Given the description of an element on the screen output the (x, y) to click on. 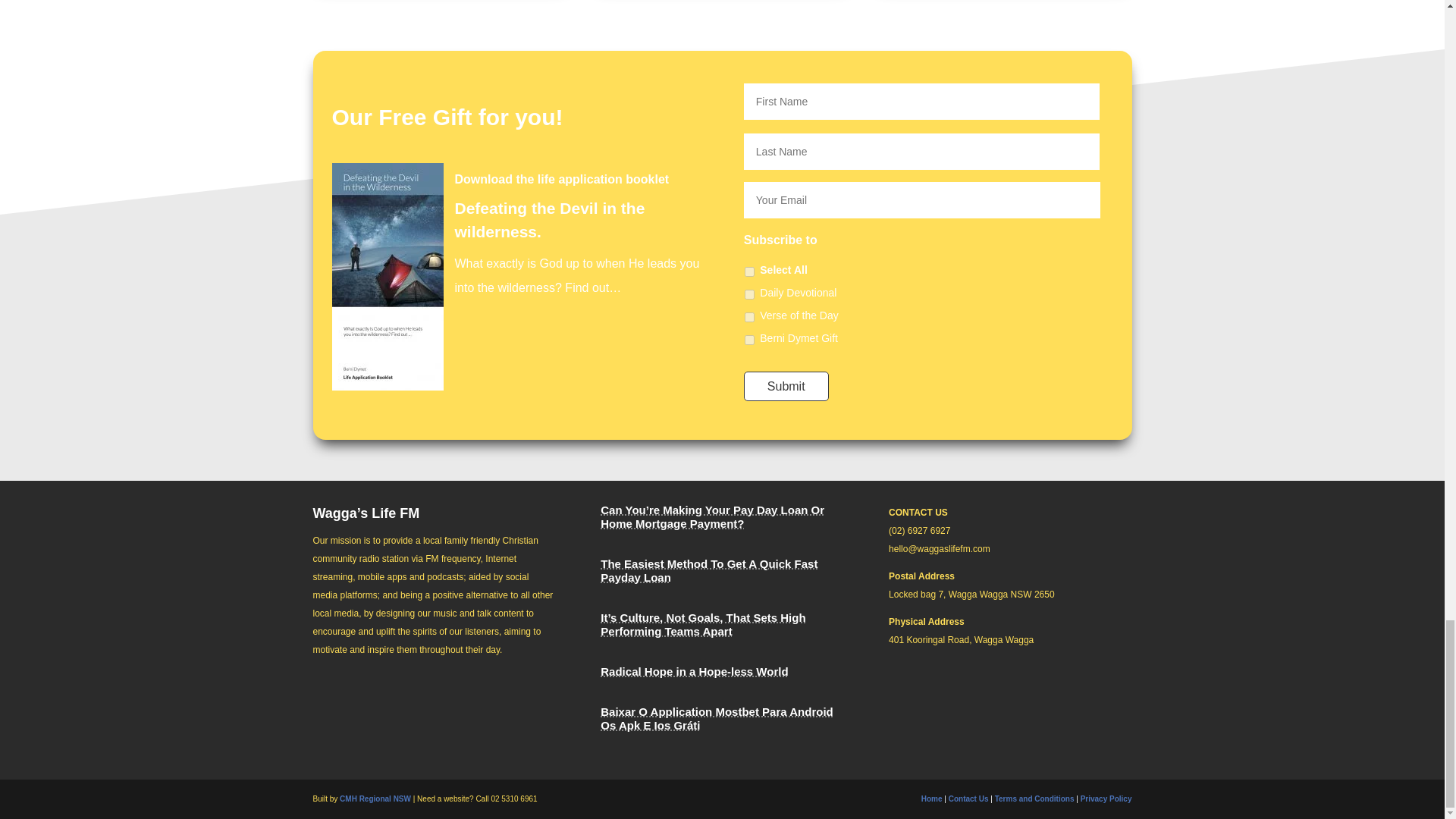
Daily Devotional (749, 294)
Berni Dymet Gift (749, 339)
on (749, 271)
Verse of the Day (749, 317)
Submit (786, 386)
